Given the description of an element on the screen output the (x, y) to click on. 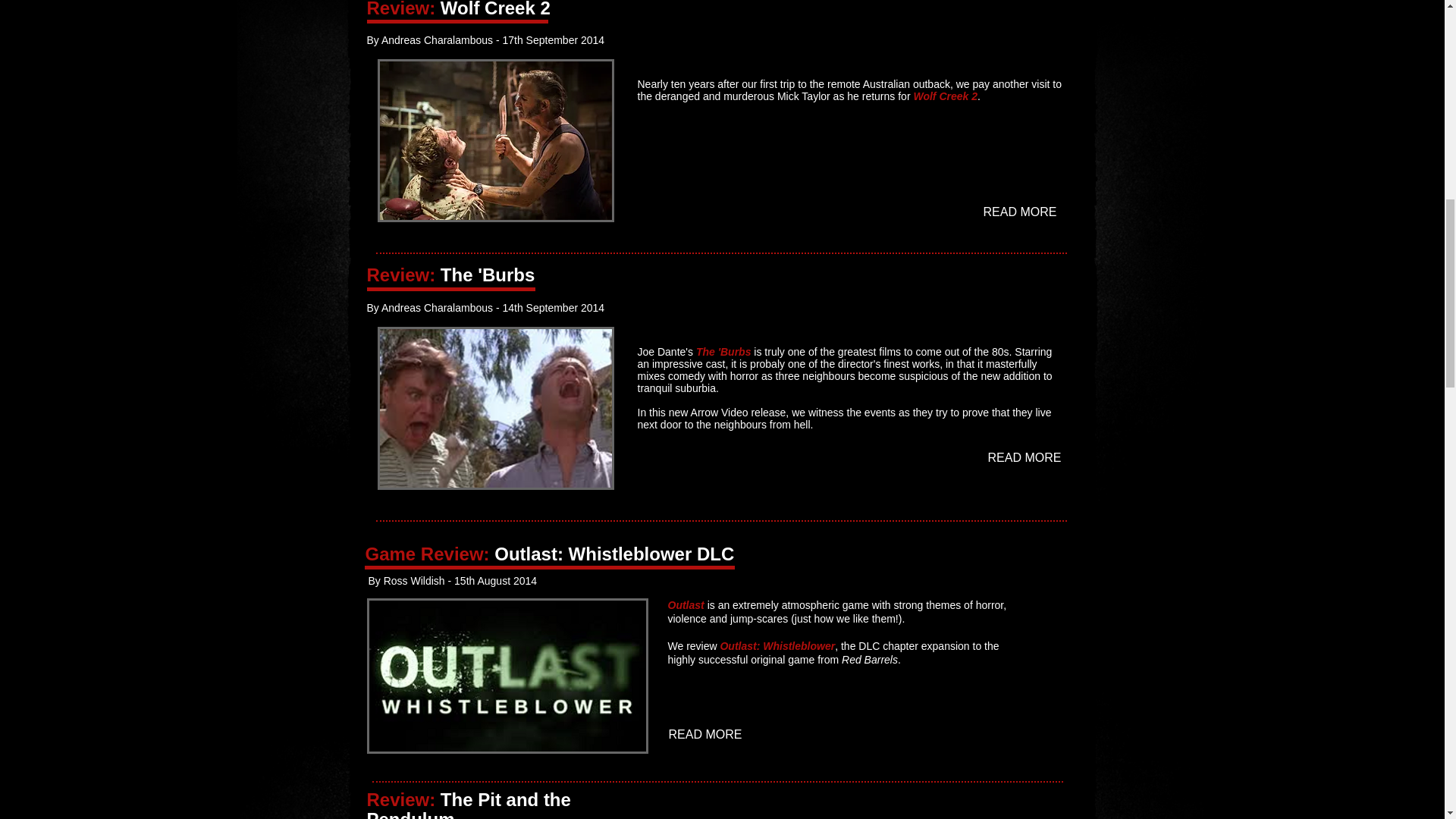
Review: The Pit and the Pendulum (468, 804)
burbs ss.png 2014-9-14-13:19:15 (495, 407)
OL Whistleblower.png (506, 675)
Game Review: Outlast: Whistleblower DLC (550, 553)
READ MORE (706, 735)
